Given the description of an element on the screen output the (x, y) to click on. 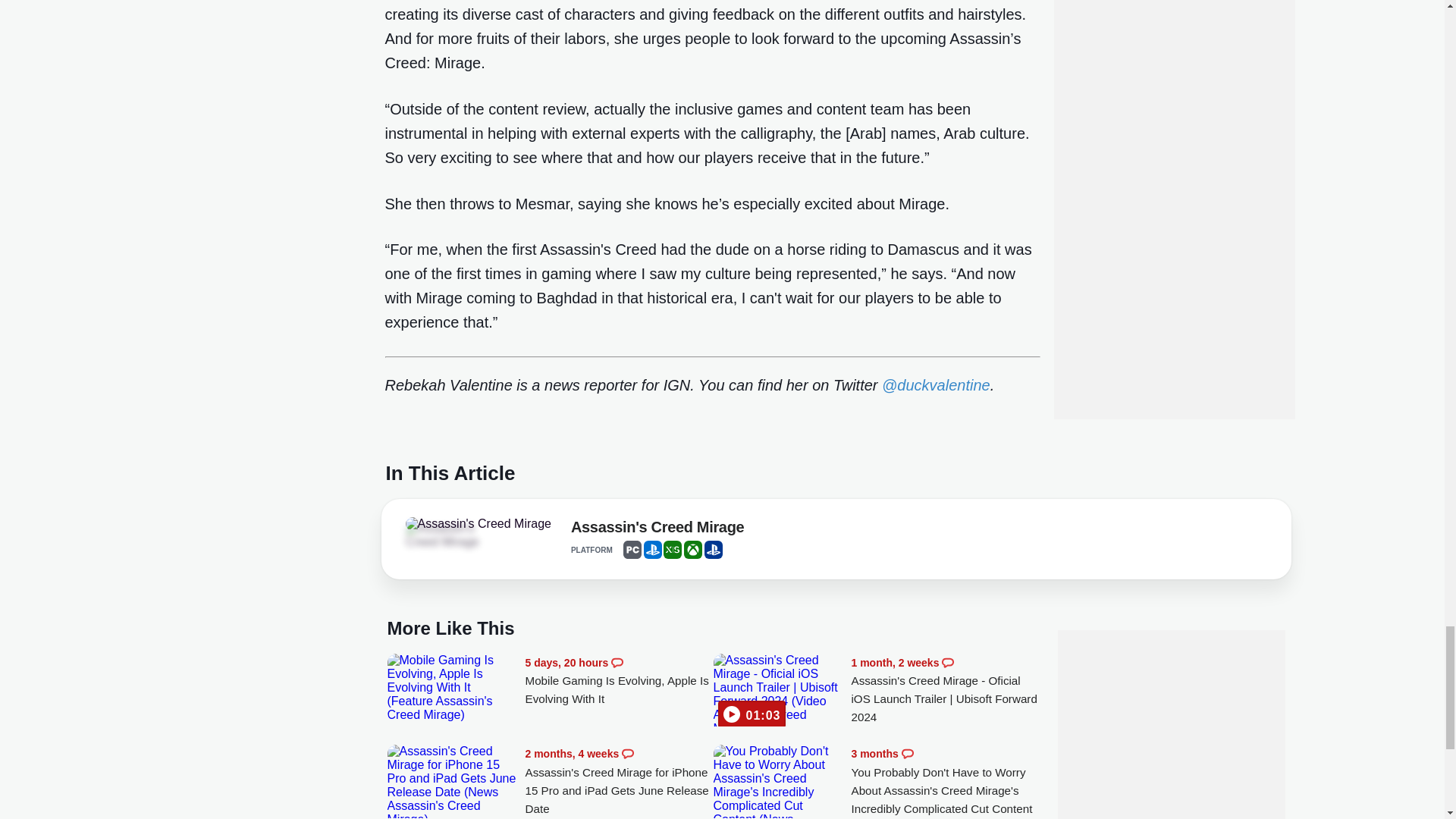
Assassin's Creed Mirage (657, 529)
XBOXONE (692, 549)
PS4 (713, 549)
Comments (907, 753)
Mobile Gaming Is Evolving, Apple Is Evolving With It (451, 687)
Assassin's Creed Mirage (477, 523)
PS5 (652, 549)
Comments (627, 753)
Comments (617, 662)
Mobile Gaming Is Evolving, Apple Is Evolving With It (618, 681)
Assassin's Creed Mirage (448, 534)
